Given the description of an element on the screen output the (x, y) to click on. 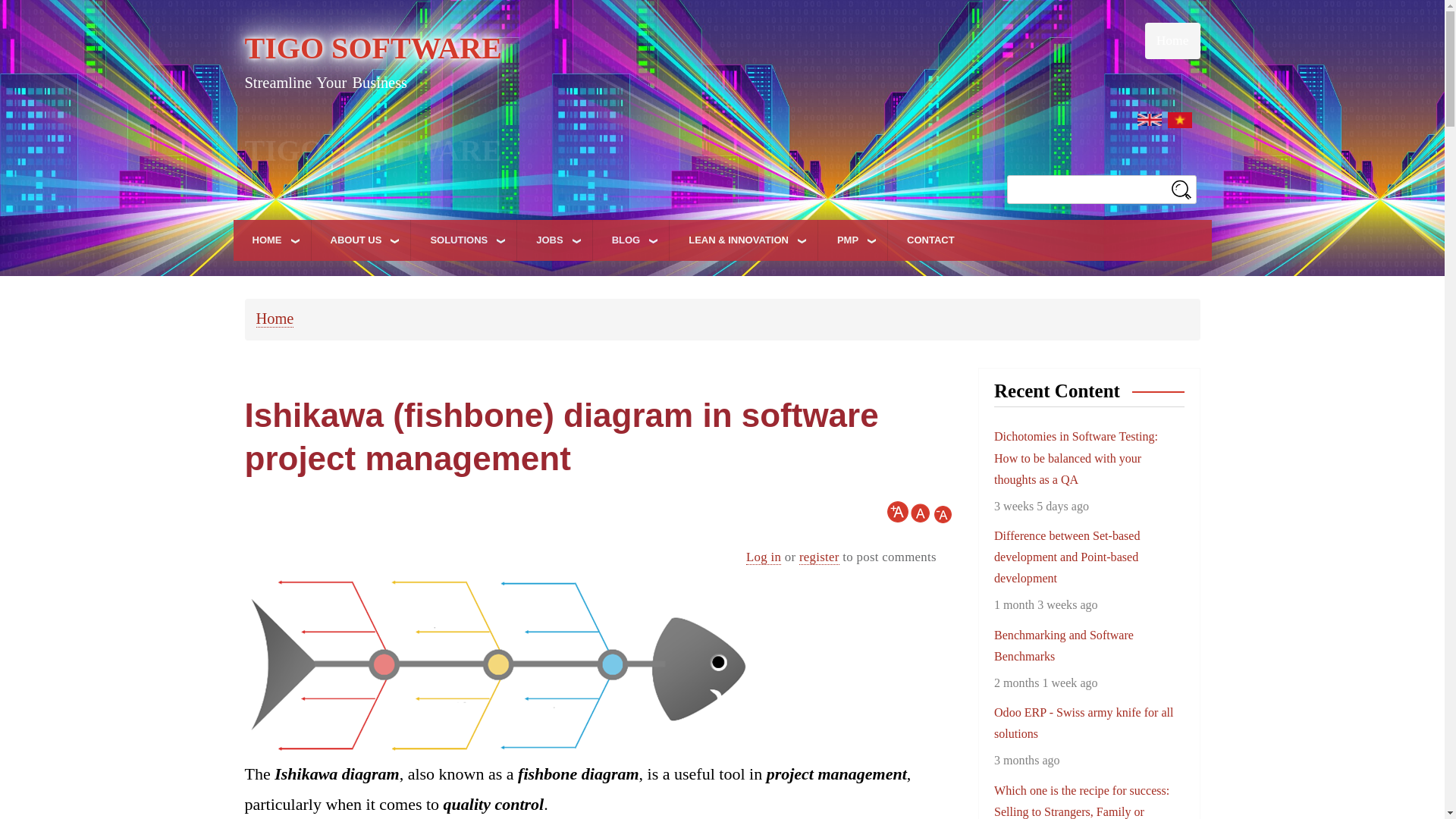
ABOUT US (360, 240)
Search (1181, 188)
Search (1181, 188)
TIGO SOFTWARE (372, 48)
Enter the terms you wish to search for. (1101, 189)
Home (372, 48)
JOBS (553, 240)
Home (1172, 39)
Vietnamese (1179, 119)
Skip to main content (721, 1)
SOLUTIONS (463, 240)
Search (1181, 188)
English (1149, 119)
HOME (271, 240)
